Given the description of an element on the screen output the (x, y) to click on. 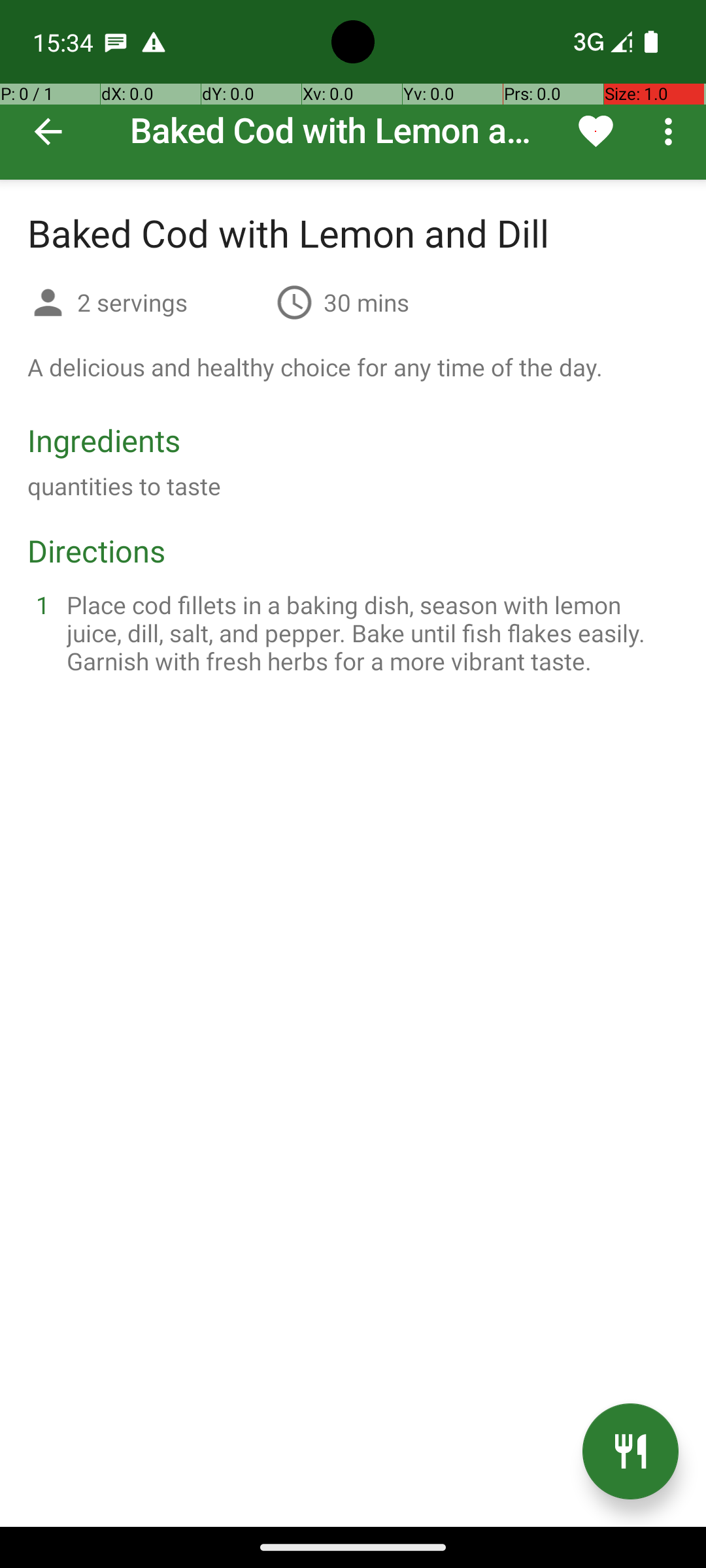
Place cod fillets in a baking dish, season with lemon juice, dill, salt, and pepper. Bake until fish flakes easily. Garnish with fresh herbs for a more vibrant taste. Element type: android.widget.TextView (368, 632)
